Given the description of an element on the screen output the (x, y) to click on. 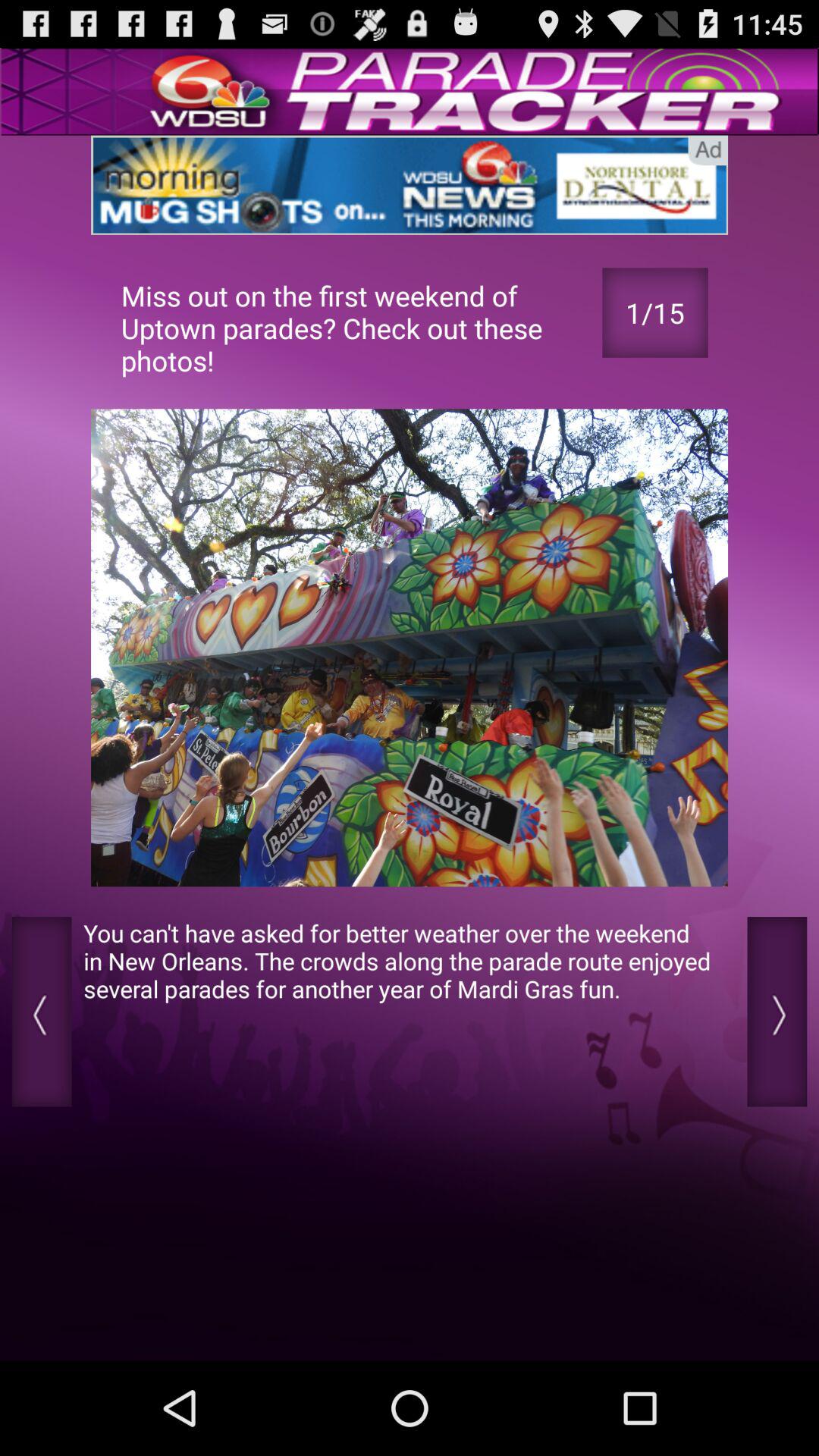
view the news (409, 184)
